Given the description of an element on the screen output the (x, y) to click on. 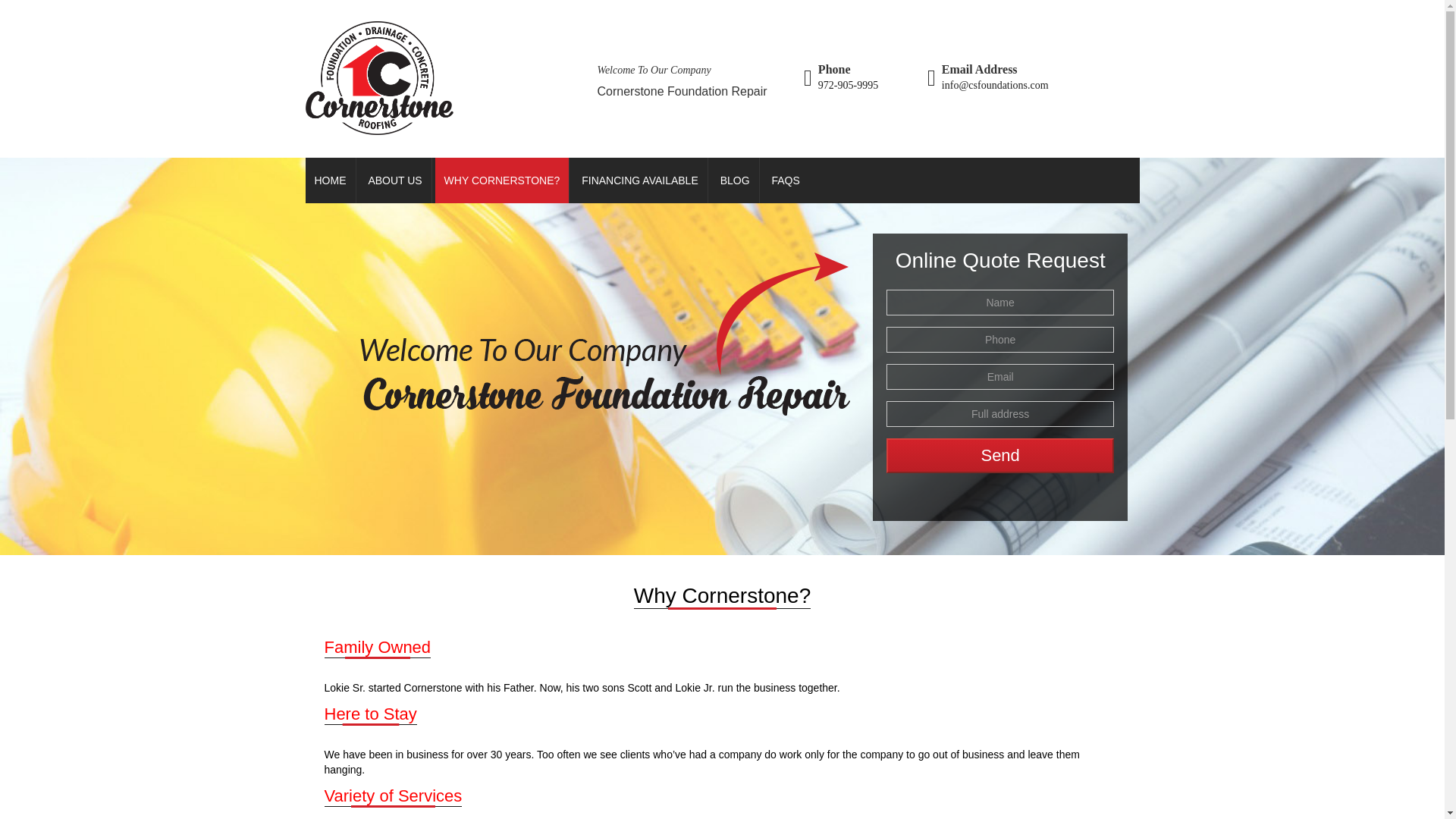
FAQS (784, 180)
WHY CORNERSTONE? (502, 180)
972-905-9995 (847, 84)
Send (1000, 455)
ABOUT US (394, 180)
HOME (329, 180)
Send (1000, 455)
BLOG (735, 180)
FINANCING AVAILABLE (639, 180)
